Given the description of an element on the screen output the (x, y) to click on. 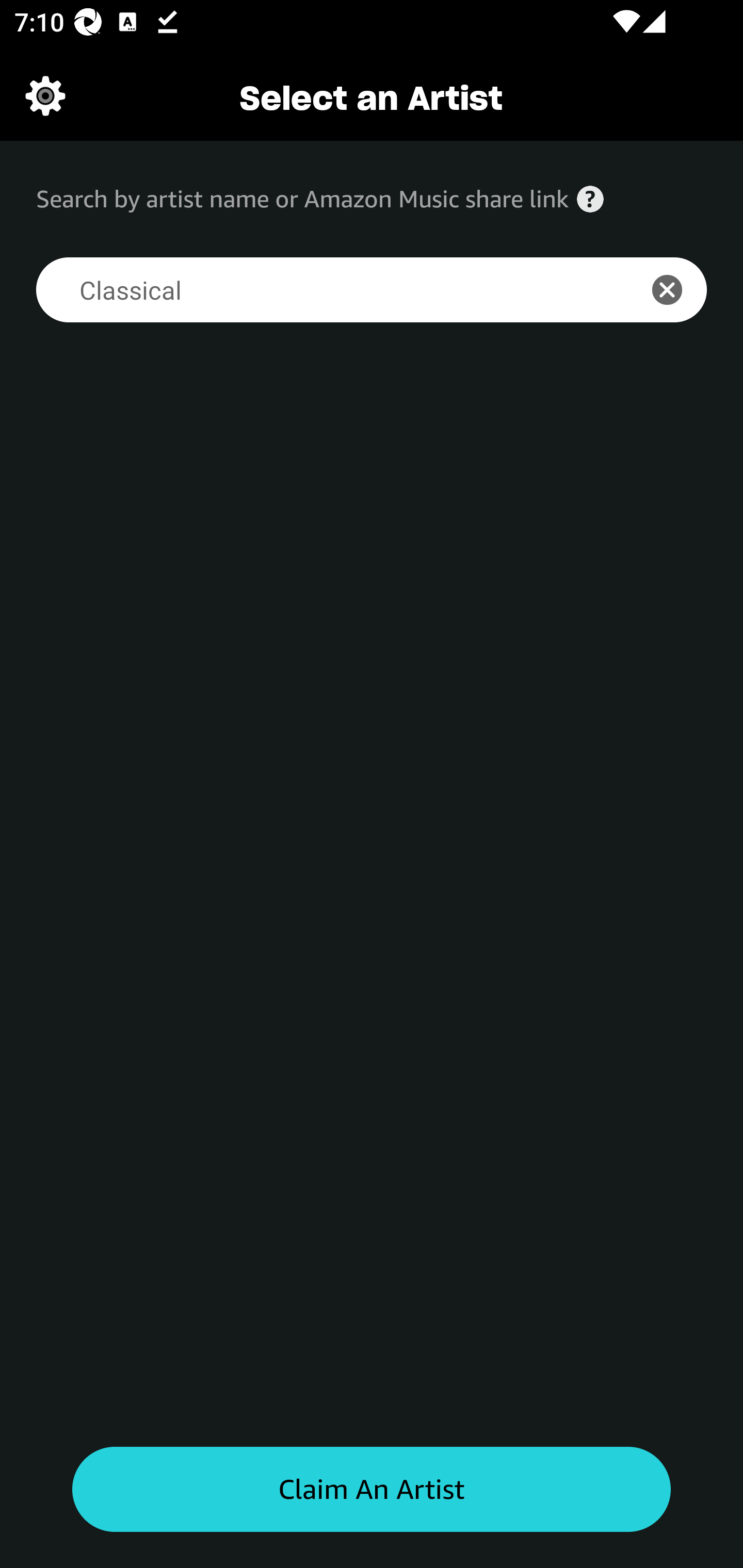
Help  icon (589, 199)
Classical Search for an artist search bar (324, 290)
 icon (677, 290)
Claim an artist button Claim An Artist (371, 1489)
